Given the description of an element on the screen output the (x, y) to click on. 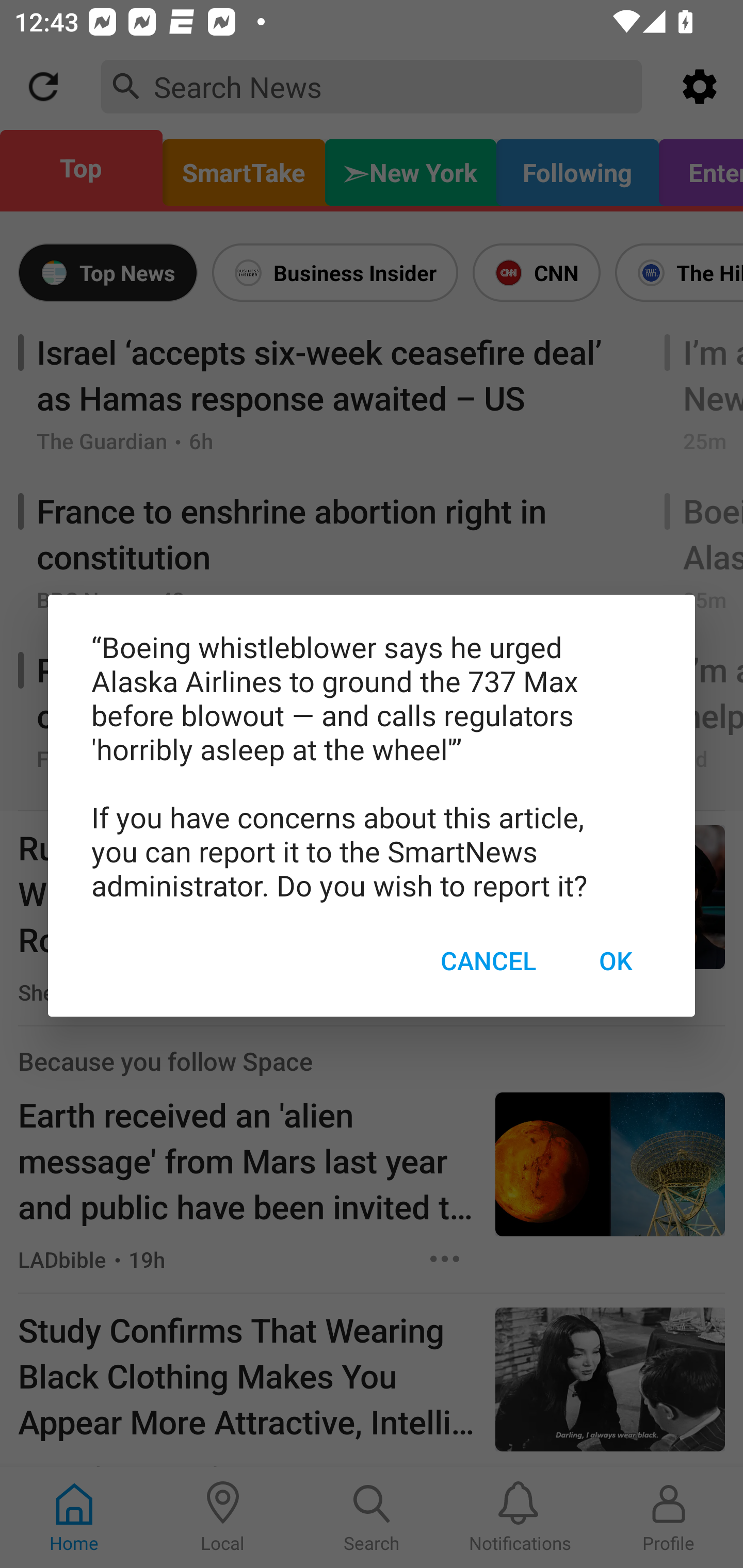
CANCEL (488, 960)
OK (615, 960)
